Given the description of an element on the screen output the (x, y) to click on. 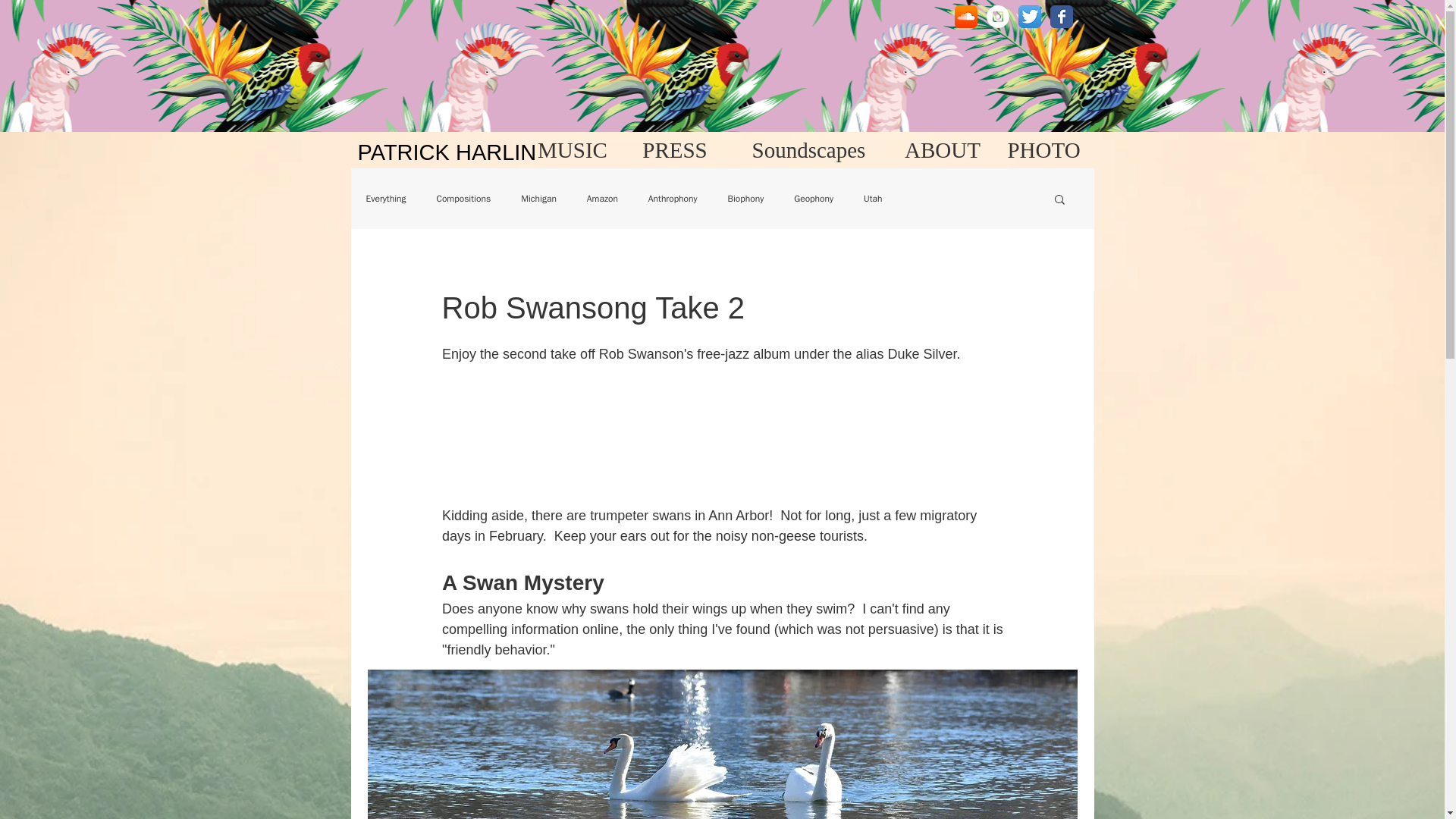
Compositions (462, 198)
ABOUT (942, 149)
Utah (872, 198)
PHOTO (1042, 149)
MUSIC (572, 149)
Everything (385, 198)
Anthrophony (672, 198)
Biophony (746, 198)
Amazon (601, 198)
PRESS (674, 149)
